Given the description of an element on the screen output the (x, y) to click on. 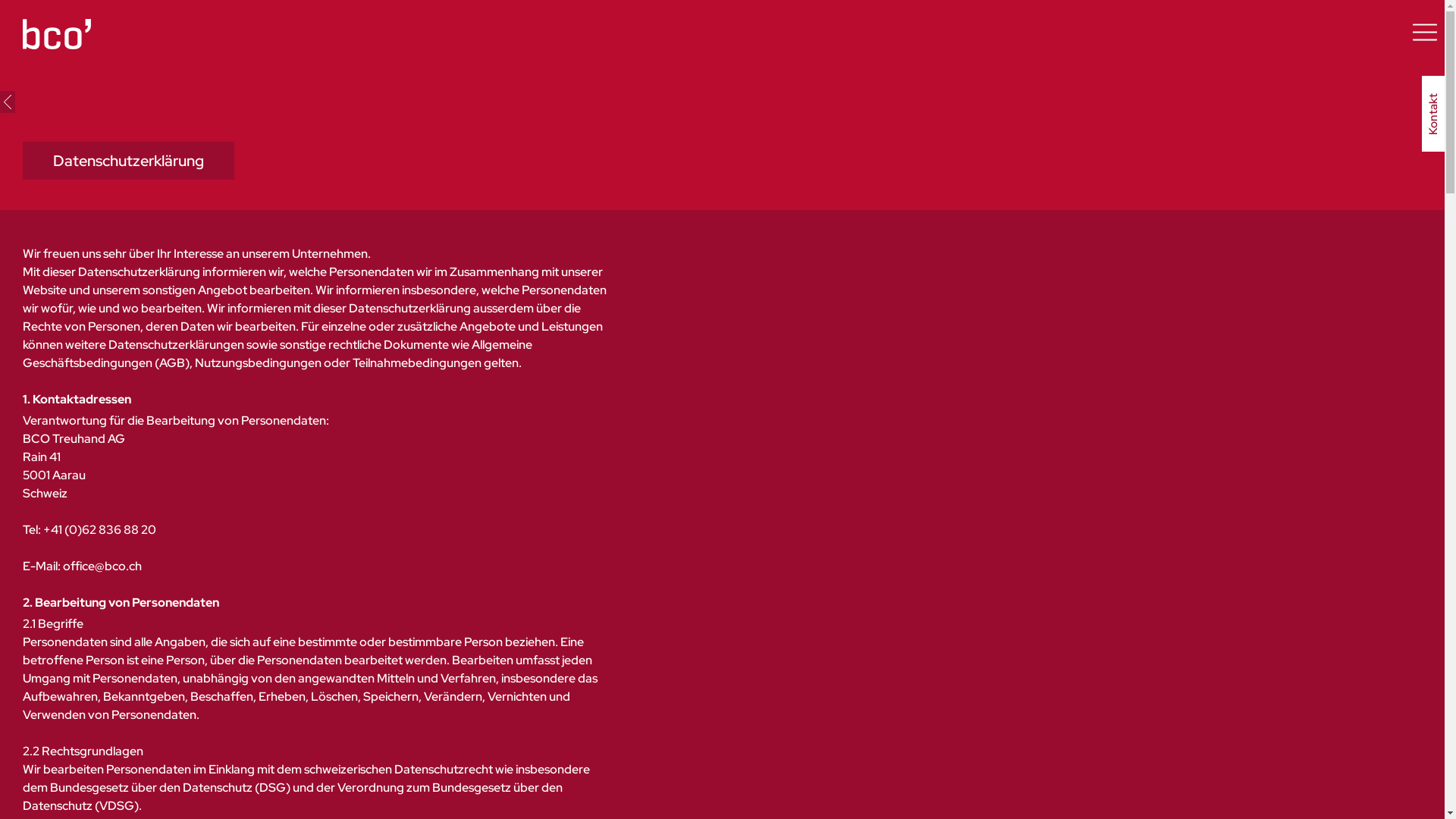
office@bco.ch Element type: text (101, 566)
